Given the description of an element on the screen output the (x, y) to click on. 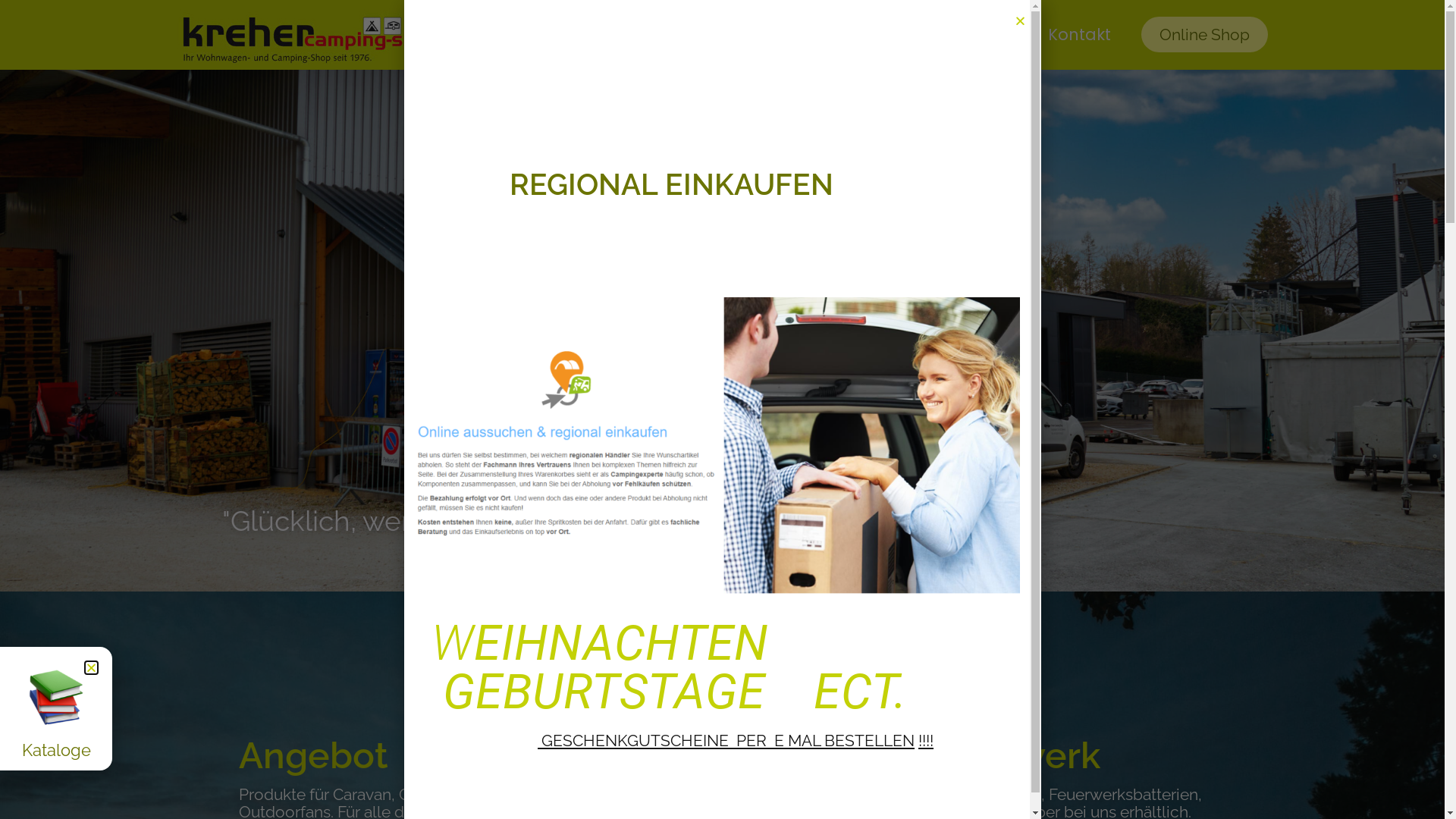
Start Element type: text (708, 34)
Aktionen Element type: text (882, 34)
Kontakt Element type: text (1079, 34)
Angebot Element type: text (787, 34)
Online Shop Element type: text (1204, 34)
Feuerwerk Element type: text (982, 34)
Kataloge Element type: text (55, 749)
